Given the description of an element on the screen output the (x, y) to click on. 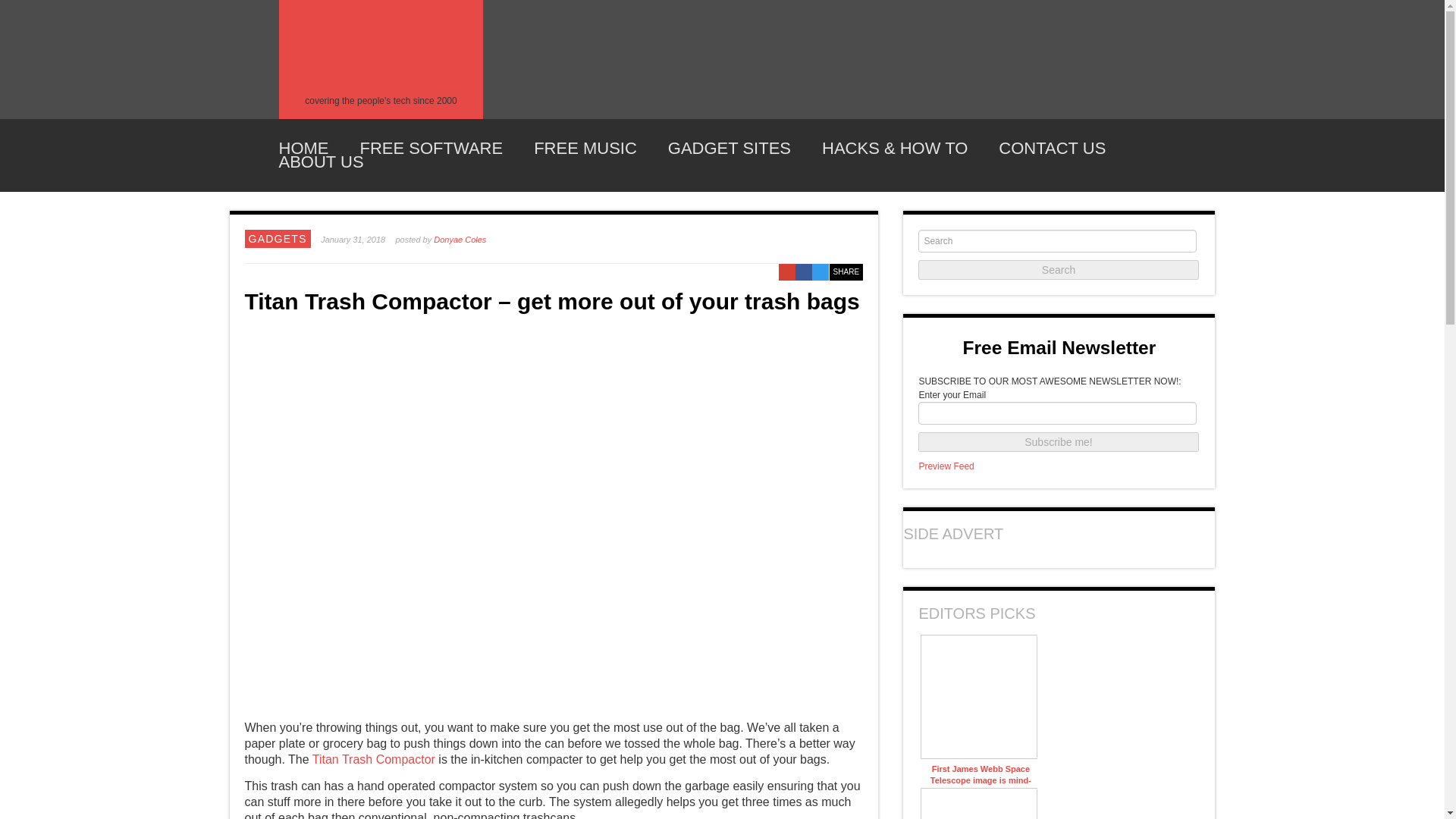
View all posts in Gadgets (277, 238)
HOME (304, 148)
Subscribe me! (1058, 442)
Search (1058, 270)
Search (1058, 270)
GADGET SITES (729, 148)
CONTACT US (1051, 148)
Titan Trash Compactor (374, 758)
SHARE (846, 271)
Donyae Coles (459, 239)
